Given the description of an element on the screen output the (x, y) to click on. 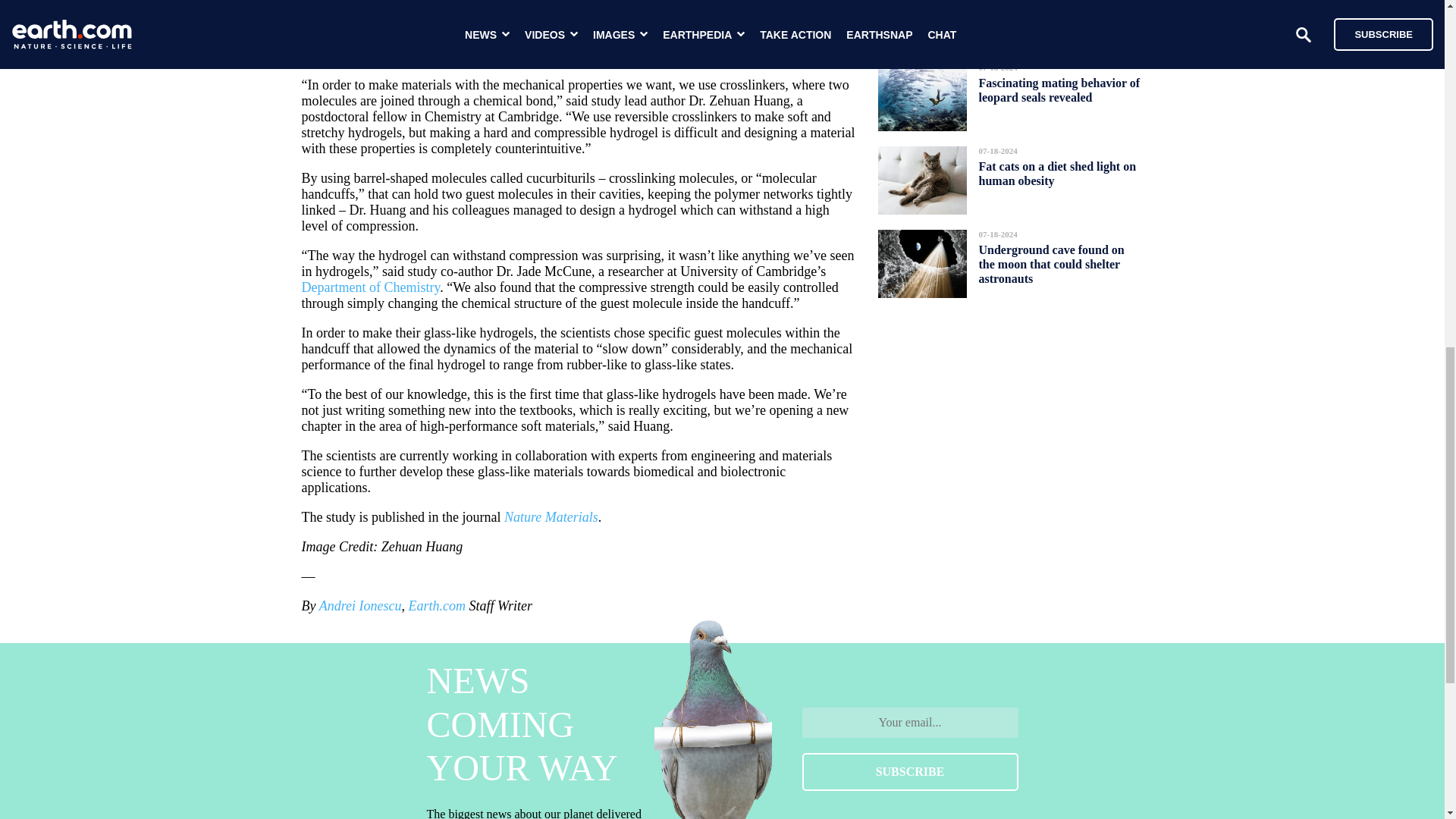
Fascinating mating behavior of leopard seals revealed (1059, 89)
Nature Materials (550, 516)
Earth.com (436, 605)
Department of Chemistry (371, 287)
Mindfulness can lead to altered states of consciousness (1059, 13)
Andrei Ionescu (359, 605)
Fat cats on a diet shed light on human obesity (1056, 173)
